Given the description of an element on the screen output the (x, y) to click on. 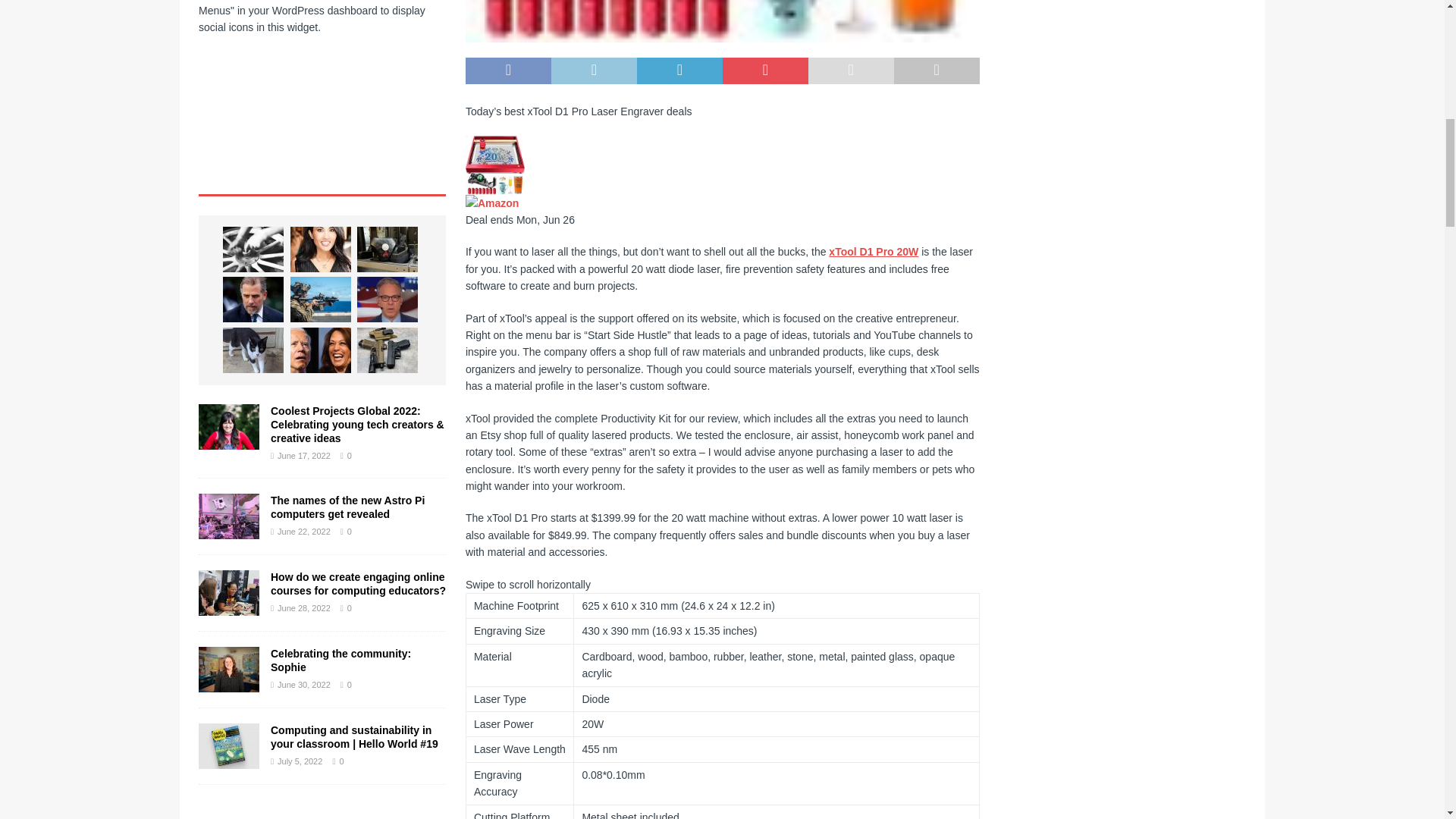
Amazon (491, 202)
xTool D1 Pro Laser Engraver... (494, 164)
312858cc2f8b8670d2c698cce91d96e19d2f36f7-100-80.jpg (722, 21)
